Given the description of an element on the screen output the (x, y) to click on. 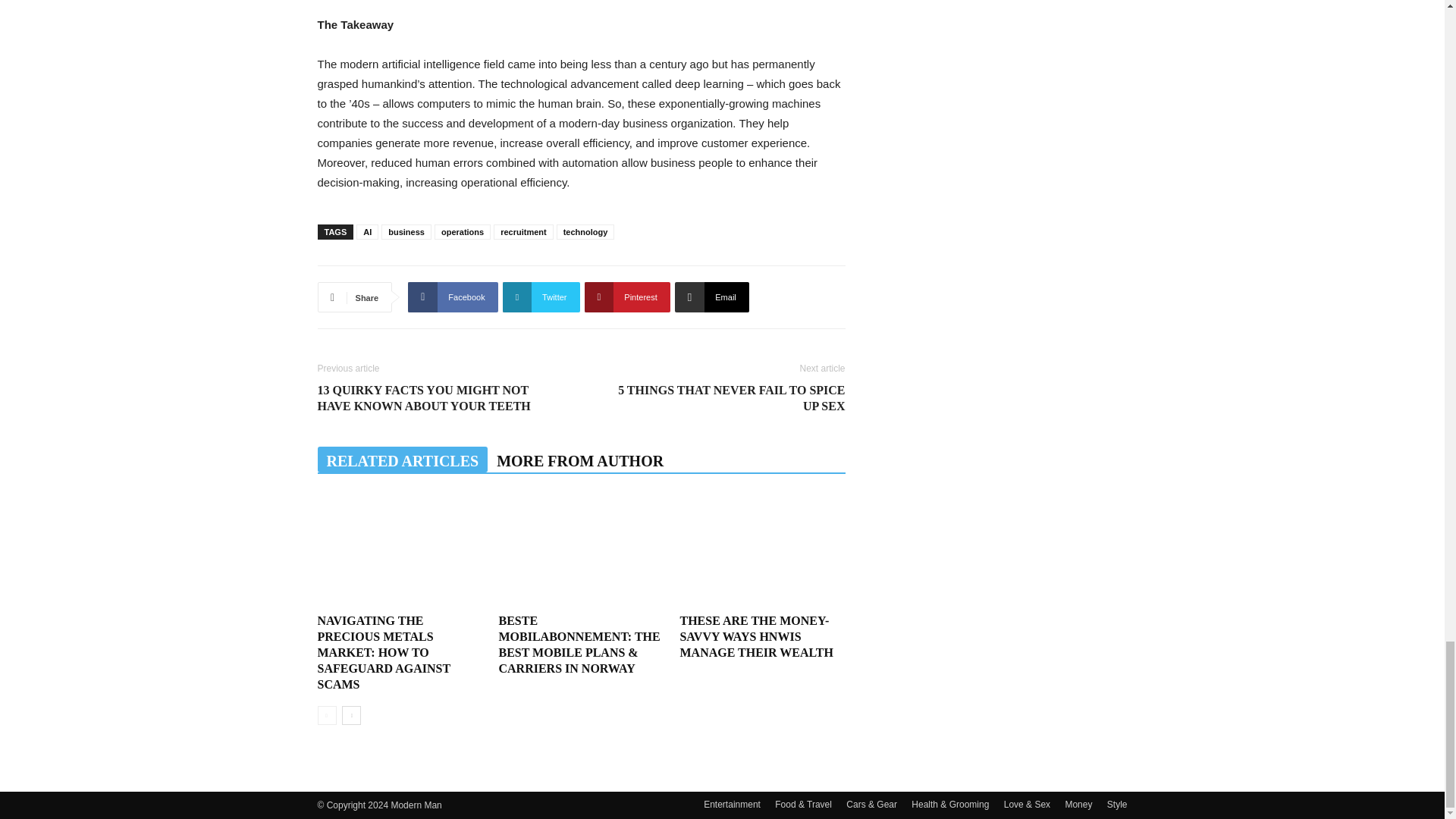
These Are The Money-Savvy Ways HNWIs Manage Their Wealth (755, 636)
These Are The Money-Savvy Ways HNWIs Manage Their Wealth (761, 551)
